Given the description of an element on the screen output the (x, y) to click on. 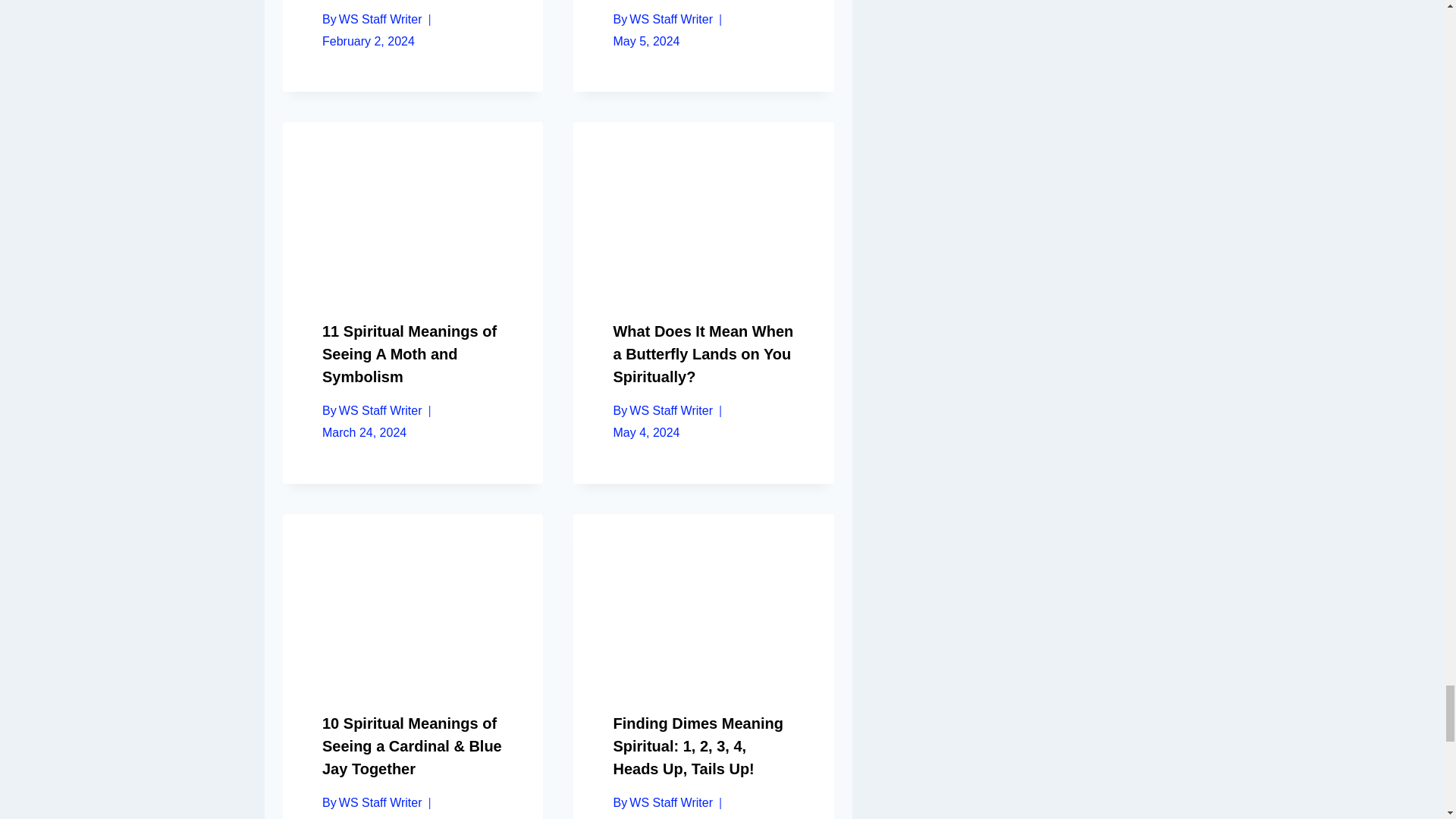
11 Spiritual Meanings of Seeing A Moth and Symbolism 5 (412, 208)
